Given the description of an element on the screen output the (x, y) to click on. 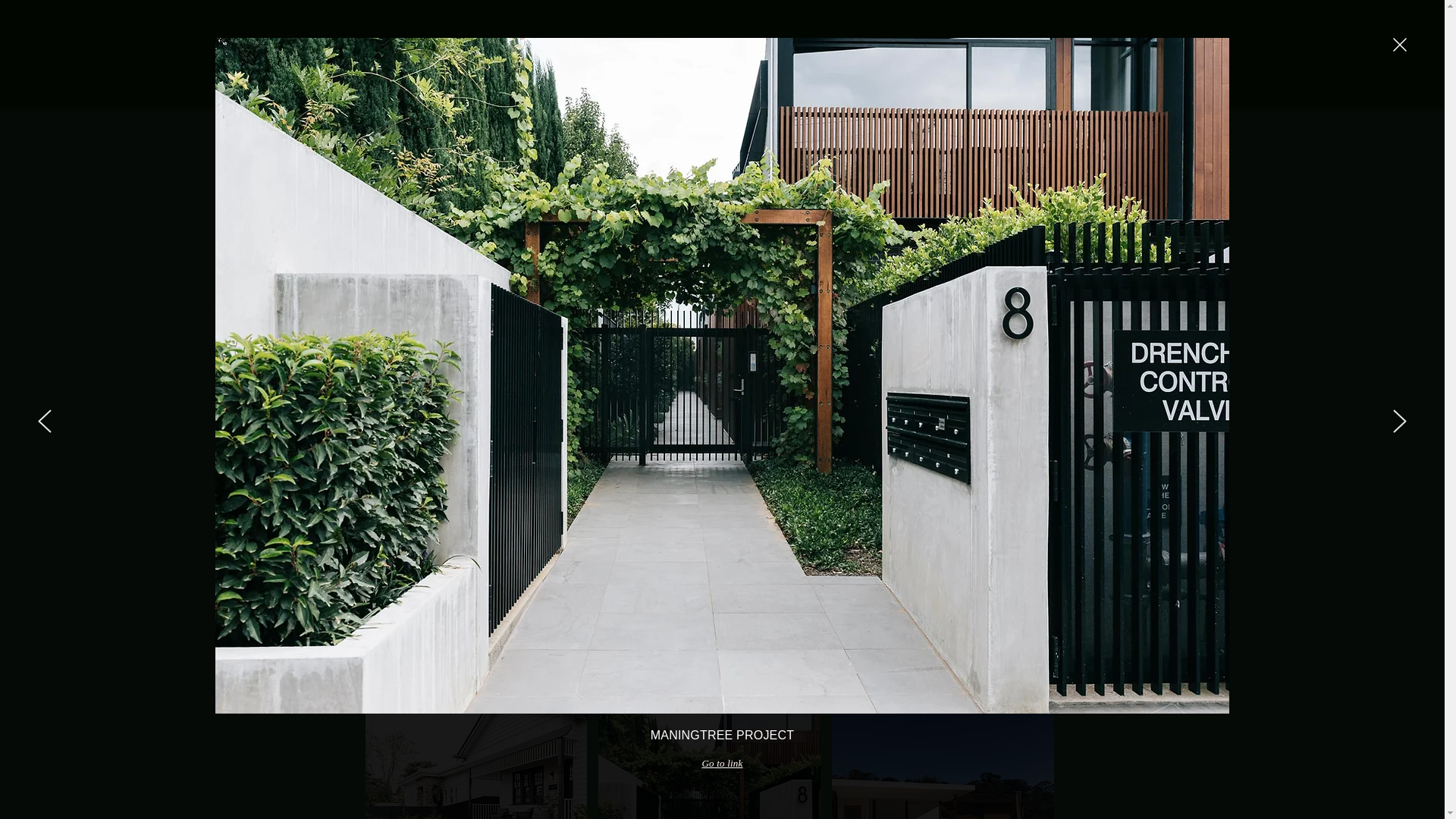
PortFolio Element type: text (716, 47)
FAQ Element type: text (1023, 47)
Contact Element type: text (929, 47)
Go to link Element type: text (722, 763)
Home Element type: text (615, 47)
